Given the description of an element on the screen output the (x, y) to click on. 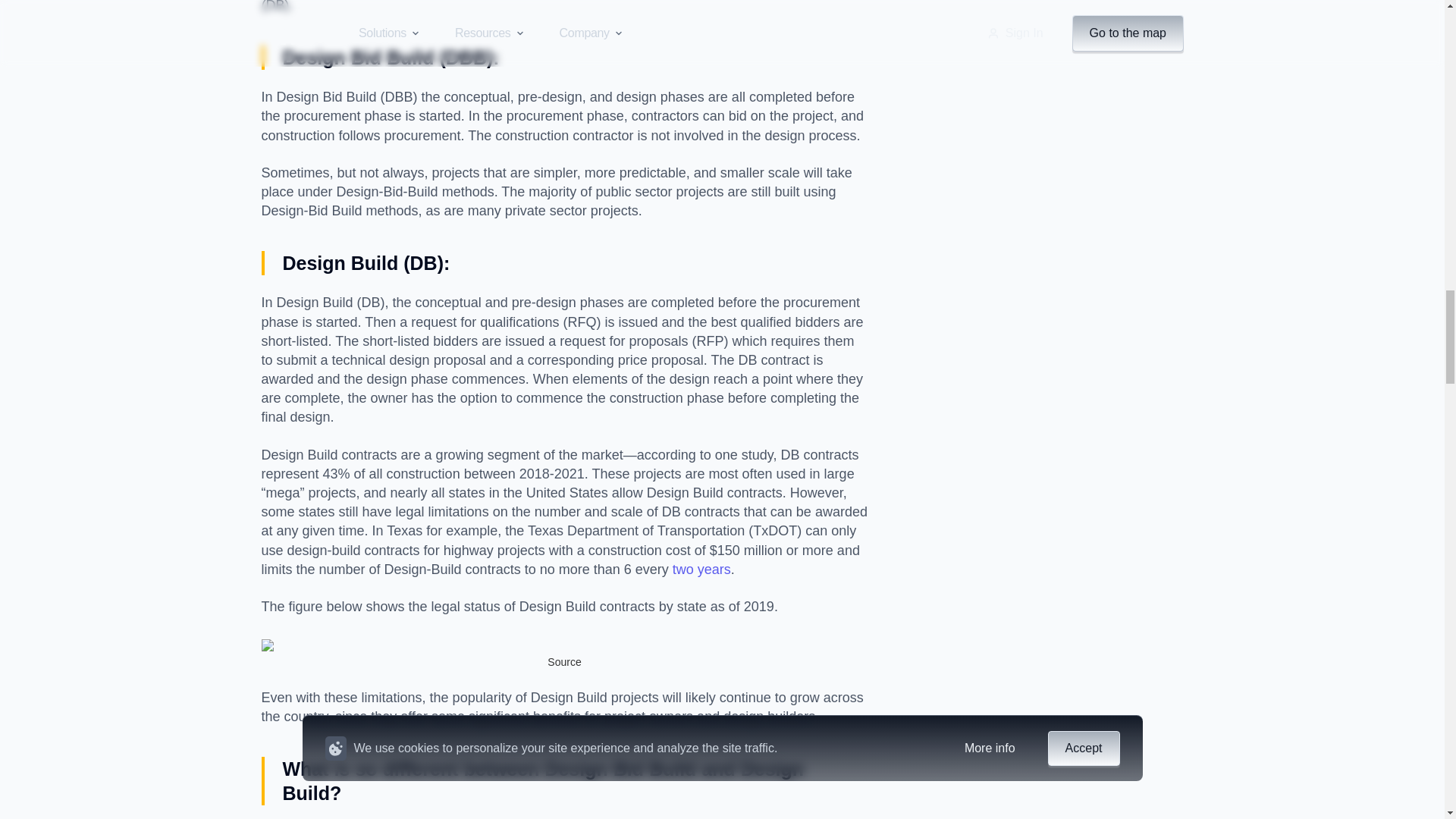
two years (699, 569)
